Given the description of an element on the screen output the (x, y) to click on. 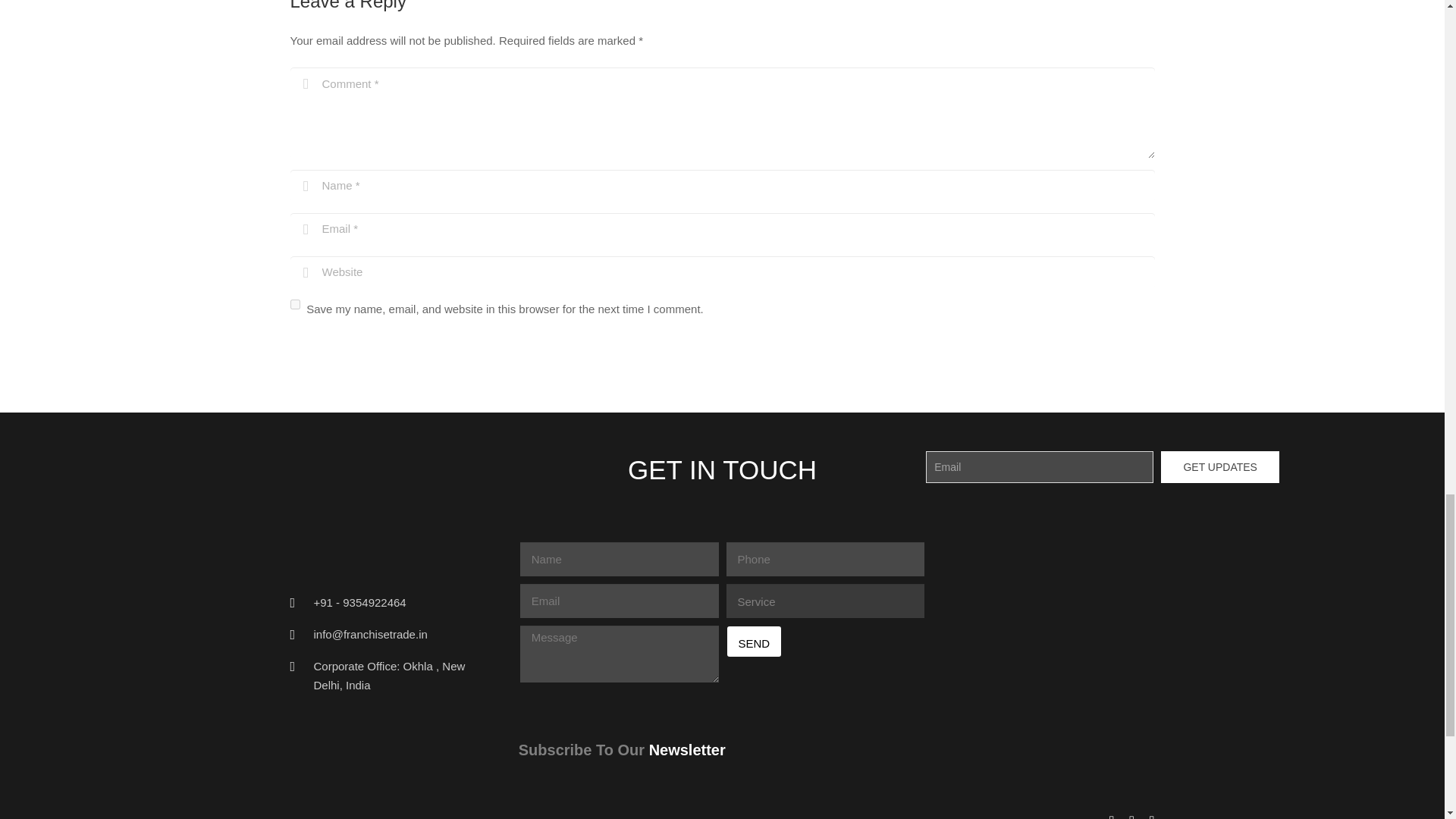
yes (294, 304)
SEND (753, 641)
Post Comment (347, 350)
SEND (753, 641)
Corporate Office: Okhla , New Delhi, India (389, 675)
Post Comment (347, 350)
GET UPDATES (1219, 467)
GET UPDATES (1219, 467)
